Given the description of an element on the screen output the (x, y) to click on. 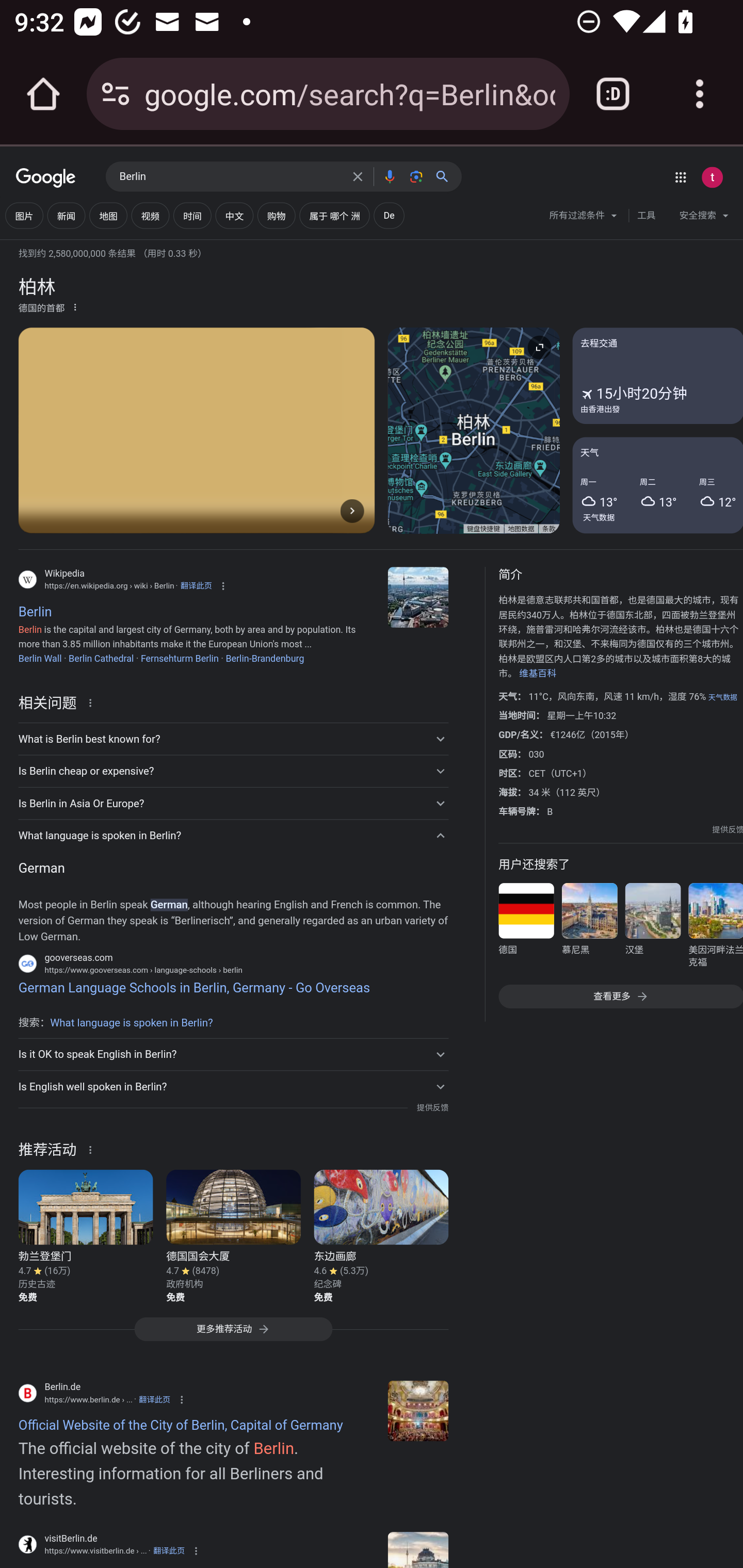
Open the home page (43, 93)
Connection is secure (115, 93)
Switch or close tabs (612, 93)
Customize and control Google Chrome (699, 93)
清除 (357, 176)
按语音搜索 (389, 176)
按图搜索 (415, 176)
搜索 (446, 176)
Google 应用 (680, 176)
Google 账号： test appium (testappium002@gmail.com) (712, 176)
Google (45, 178)
Berlin (229, 177)
图片 (24, 215)
新闻 (65, 215)
地图 (107, 215)
视频 (149, 215)
添加“时间” 时间 (191, 215)
添加“中文” 中文 (234, 215)
购物 (276, 215)
添加“属于 哪个 洲” 属于 哪个 洲 (334, 215)
添加“De” De (388, 215)
所有过滤条件 (583, 217)
工具 (646, 215)
安全搜索 (703, 217)
更多选项 (74, 306)
去程交通 15小时20分钟 乘坐飞机 由香港出發 (657, 375)
展开地图 (539, 346)
天气 周一 高温 13 度 周二 高温 13 度 周三 高温 12 度 (657, 484)
下一张图片 (352, 510)
天气数据 (599, 516)
Berlin (417, 597)
翻译此页 (195, 585)
Berlin Wall (39, 658)
Berlin Cathedral (101, 658)
Fernsehturm Berlin (179, 658)
Berlin-Brandenburg (264, 658)
维基百科 (537, 672)
天气数据 (722, 697)
关于这条结果的详细信息 (93, 701)
What is Berlin best known for? (232, 738)
Is Berlin cheap or expensive? (232, 770)
Is Berlin in Asia Or Europe? (232, 803)
What language is spoken in Berlin? (232, 835)
提供反馈 (727, 829)
德国 (526, 927)
慕尼黑 (588, 927)
汉堡 (652, 927)
美因河畔法兰克福 (715, 927)
查看更多 查看更多 查看更多 (620, 996)
What language is spoken in Berlin? (130, 1022)
Is it OK to speak English in Berlin? (232, 1054)
Is English well spoken in Berlin? (232, 1086)
提供反馈 (432, 1107)
关于这条结果的详细信息 (93, 1149)
更多推荐活动 (232, 1333)
en (417, 1409)
翻译此页 (154, 1398)
翻译此页 (169, 1550)
